Given the description of an element on the screen output the (x, y) to click on. 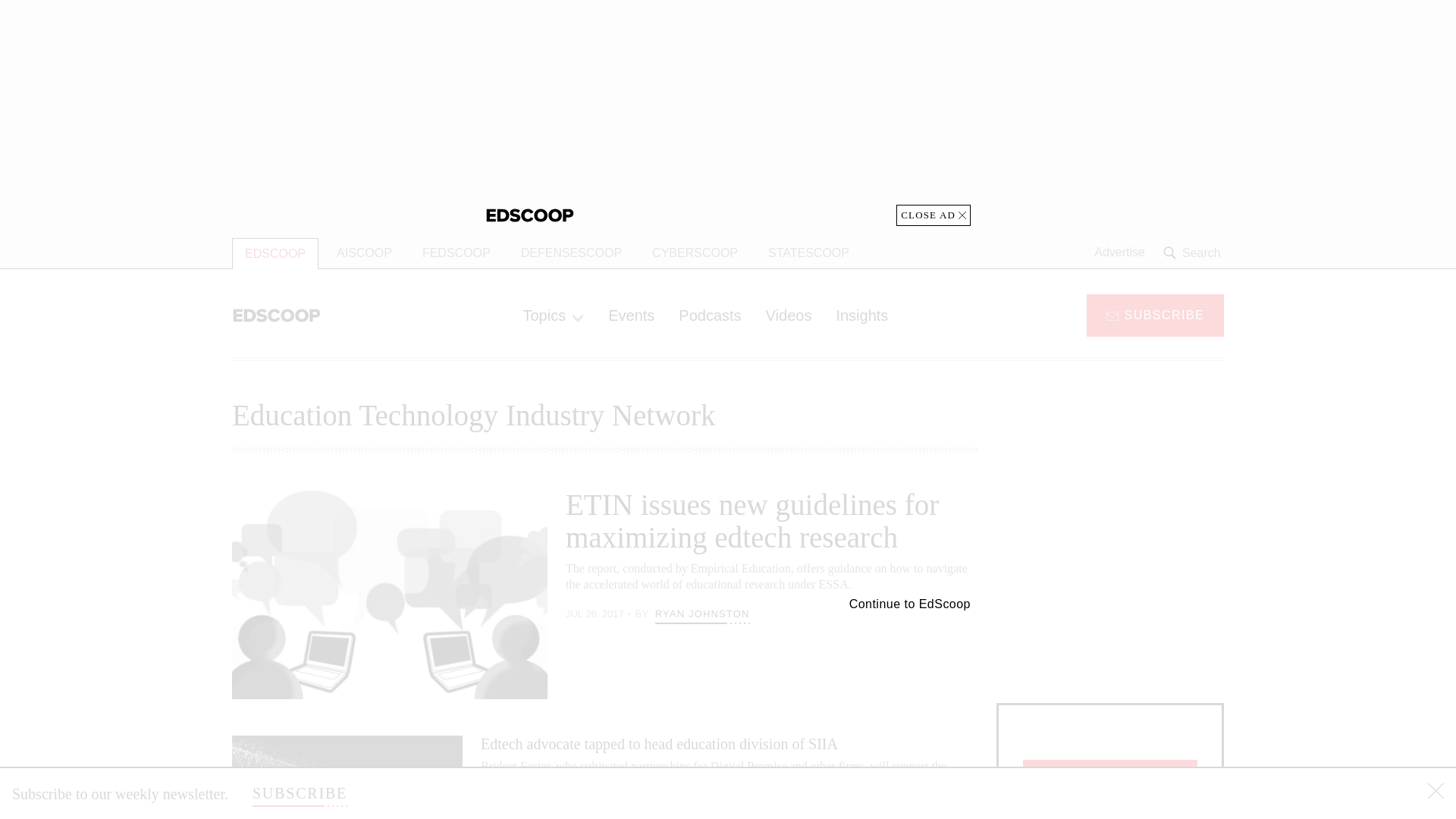
Edtech advocate tapped to head education division of SIIA (659, 743)
Events (630, 315)
CLOSE (1436, 793)
AISCOOP (364, 253)
3rd party ad content (1109, 583)
SUBSCRIBE (1155, 314)
CYBERSCOOP (694, 253)
EDSCOOP (274, 253)
Videos (789, 315)
Topics (553, 315)
Advertise (1119, 252)
FEDSCOOP (456, 253)
SUBSCRIBE (299, 793)
